Given the description of an element on the screen output the (x, y) to click on. 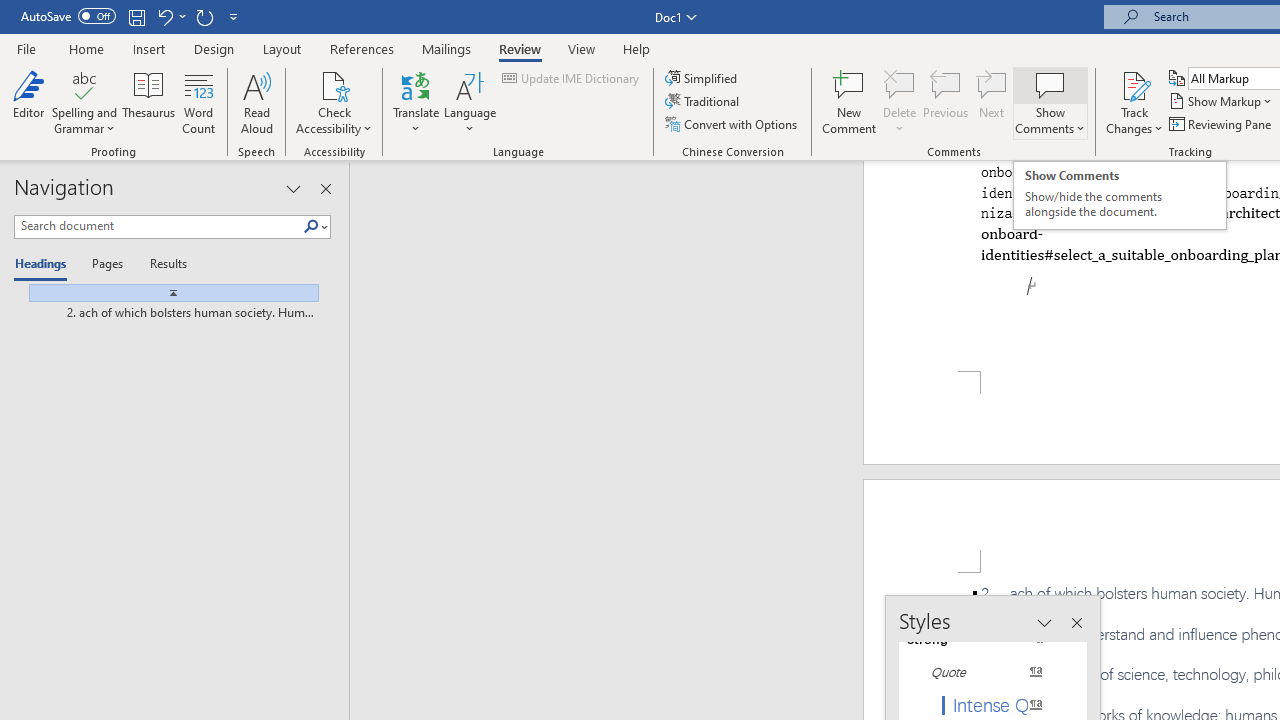
Track Changes (1134, 102)
Undo Style (164, 15)
Previous (946, 102)
Repeat Style (204, 15)
Simplified (702, 78)
